Given the description of an element on the screen output the (x, y) to click on. 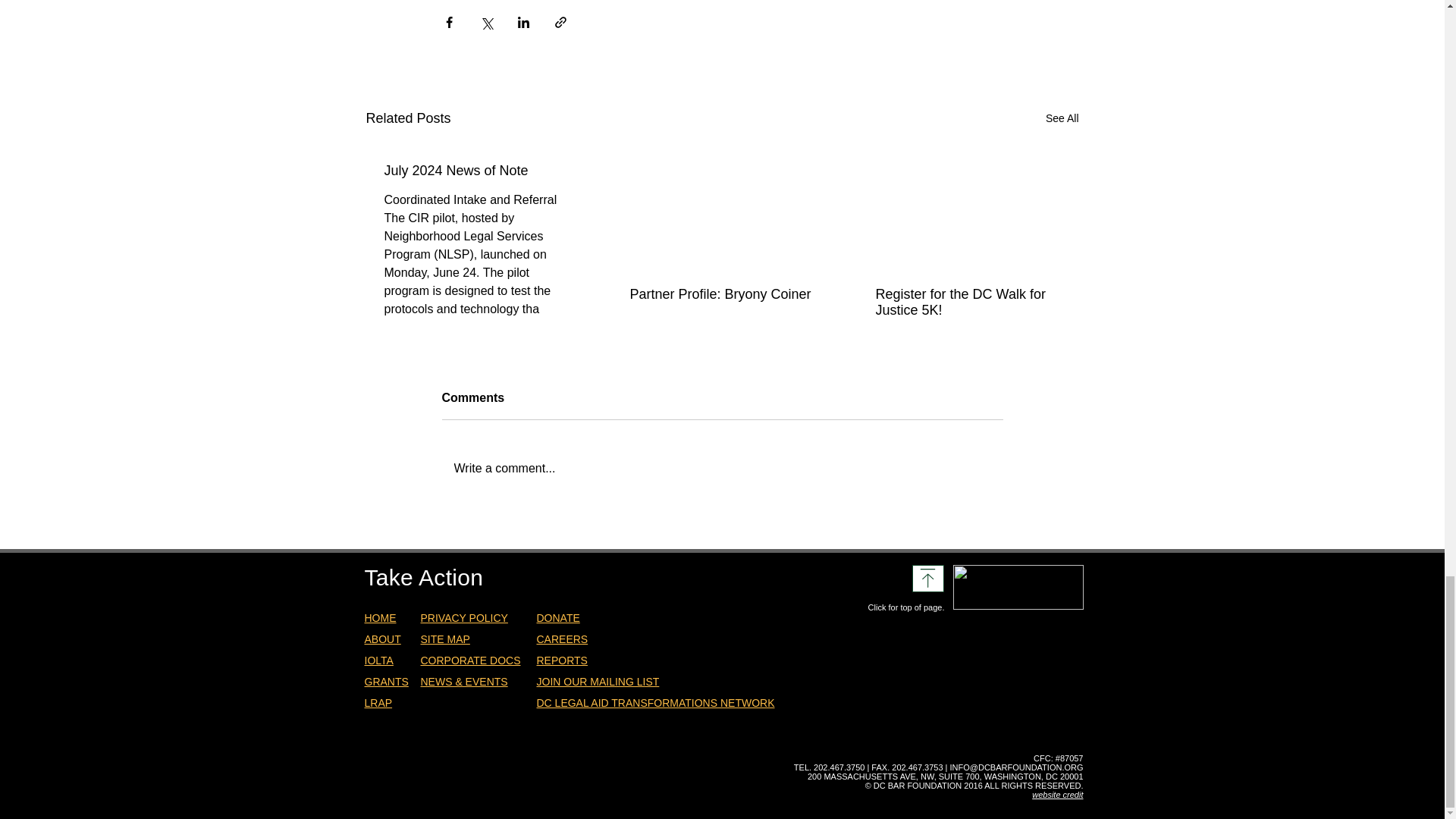
See All (1061, 118)
